Given the description of an element on the screen output the (x, y) to click on. 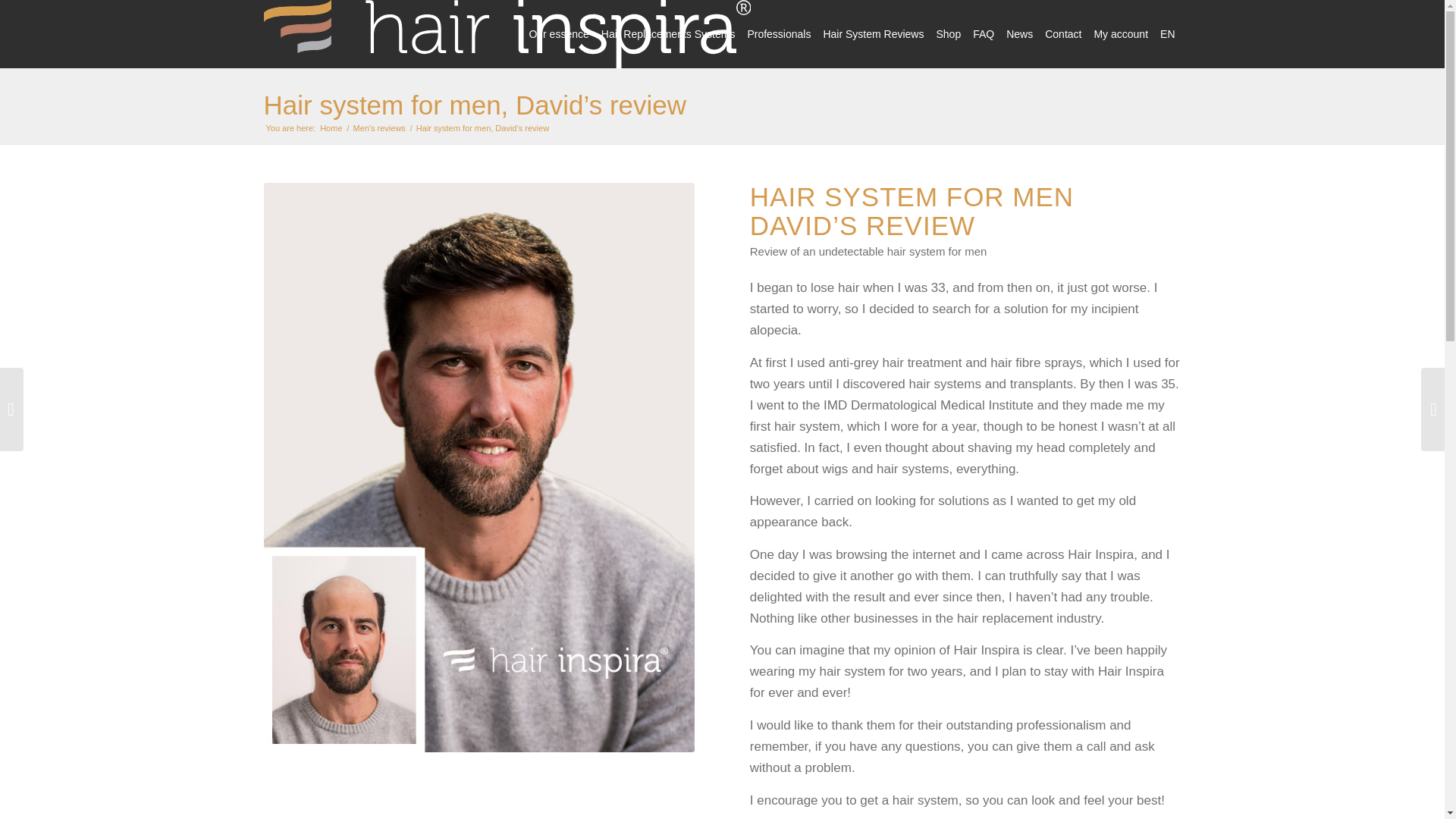
Hair System Reviews (873, 33)
logo-hair-inspira-expertos-protesis-capilares (507, 33)
logo-hair-inspira-expertos-protesis-capilares (507, 33)
Our essence (558, 33)
Men's reviews (378, 128)
Hair replacements Systems and accessories (668, 33)
Professionals (778, 33)
My account (1120, 33)
Hair Inspira essence (558, 33)
Home (330, 128)
Hair Replacements Systems (668, 33)
